Given the description of an element on the screen output the (x, y) to click on. 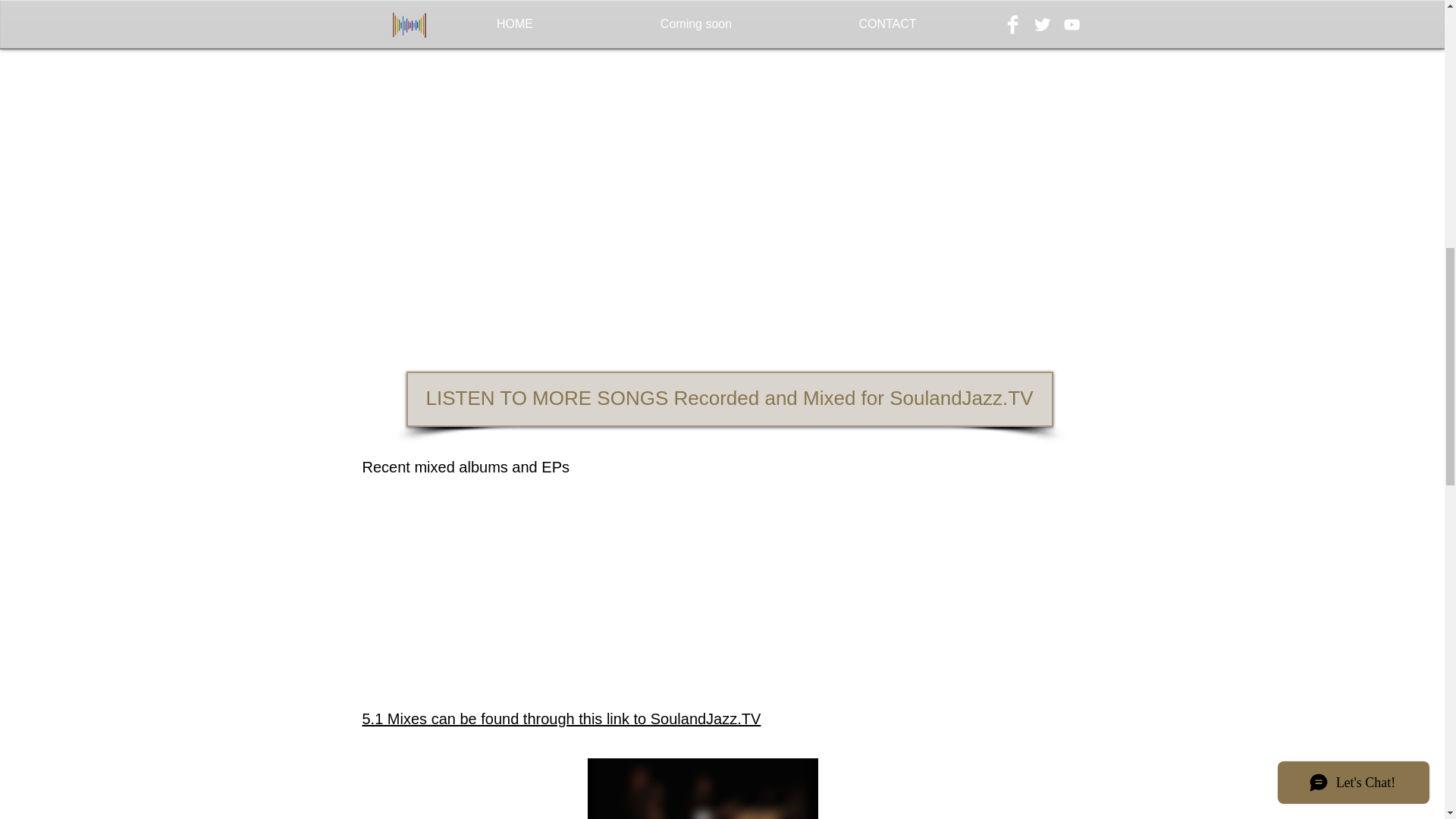
External YouTube (496, 280)
External YouTube (893, 582)
External YouTube (961, 280)
LISTEN TO MORE SONGS (981, 49)
LISTEN TO MORE SONGS Recorded and Mixed for SoulandJazz.TV (729, 398)
External YouTube (728, 94)
External YouTube (531, 582)
LISTEN TO MORE SONGS (981, 334)
5.1 Mixes can be found through this link to SoulandJazz.TV (561, 718)
External YouTube (729, 280)
External YouTube (961, 94)
External YouTube (496, 94)
